Given the description of an element on the screen output the (x, y) to click on. 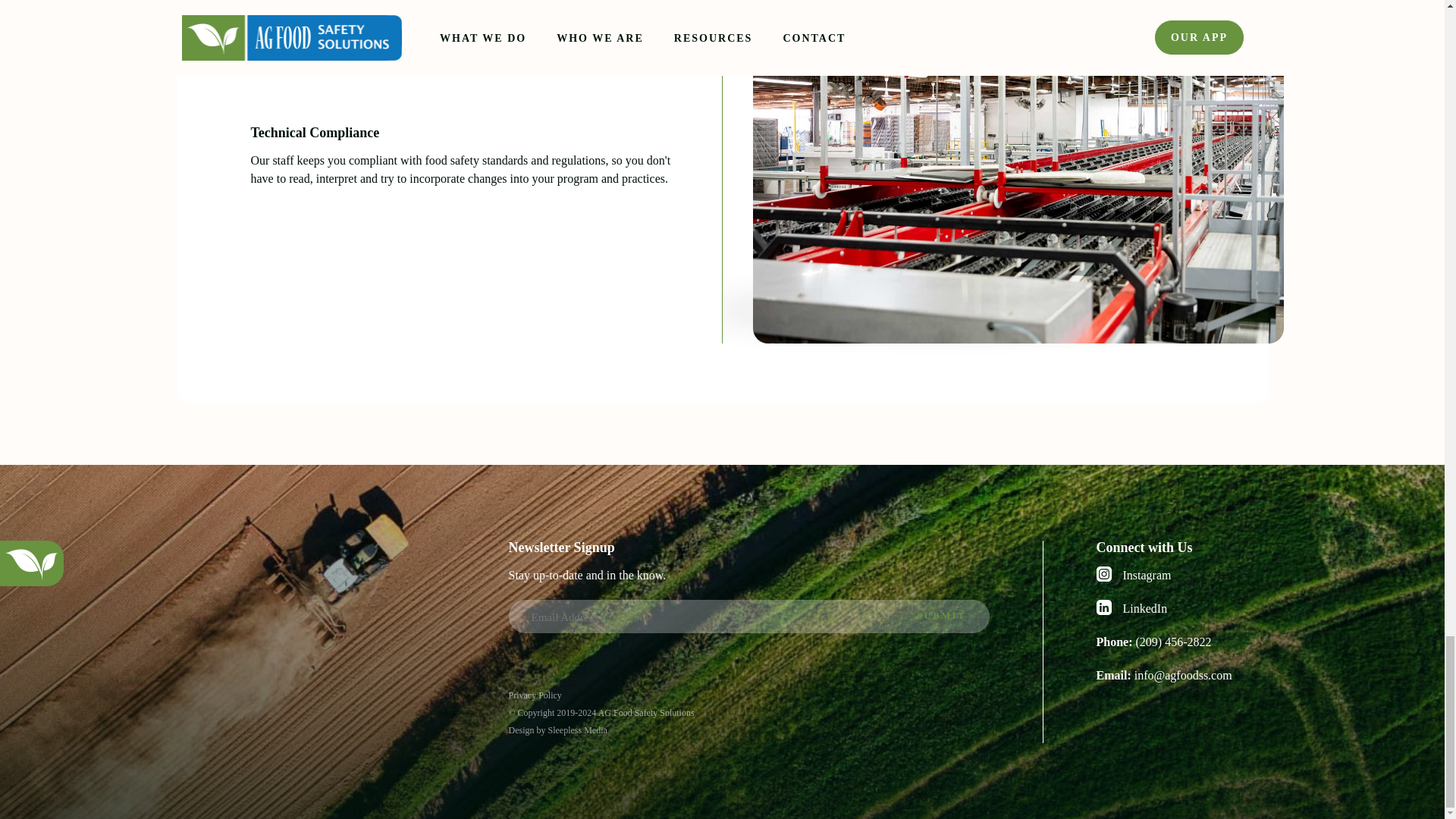
Submit (941, 616)
LinkedIn (1176, 608)
Submit (941, 616)
Privacy Policy (534, 695)
Instagram (1176, 575)
Sleepless Media (577, 729)
